Given the description of an element on the screen output the (x, y) to click on. 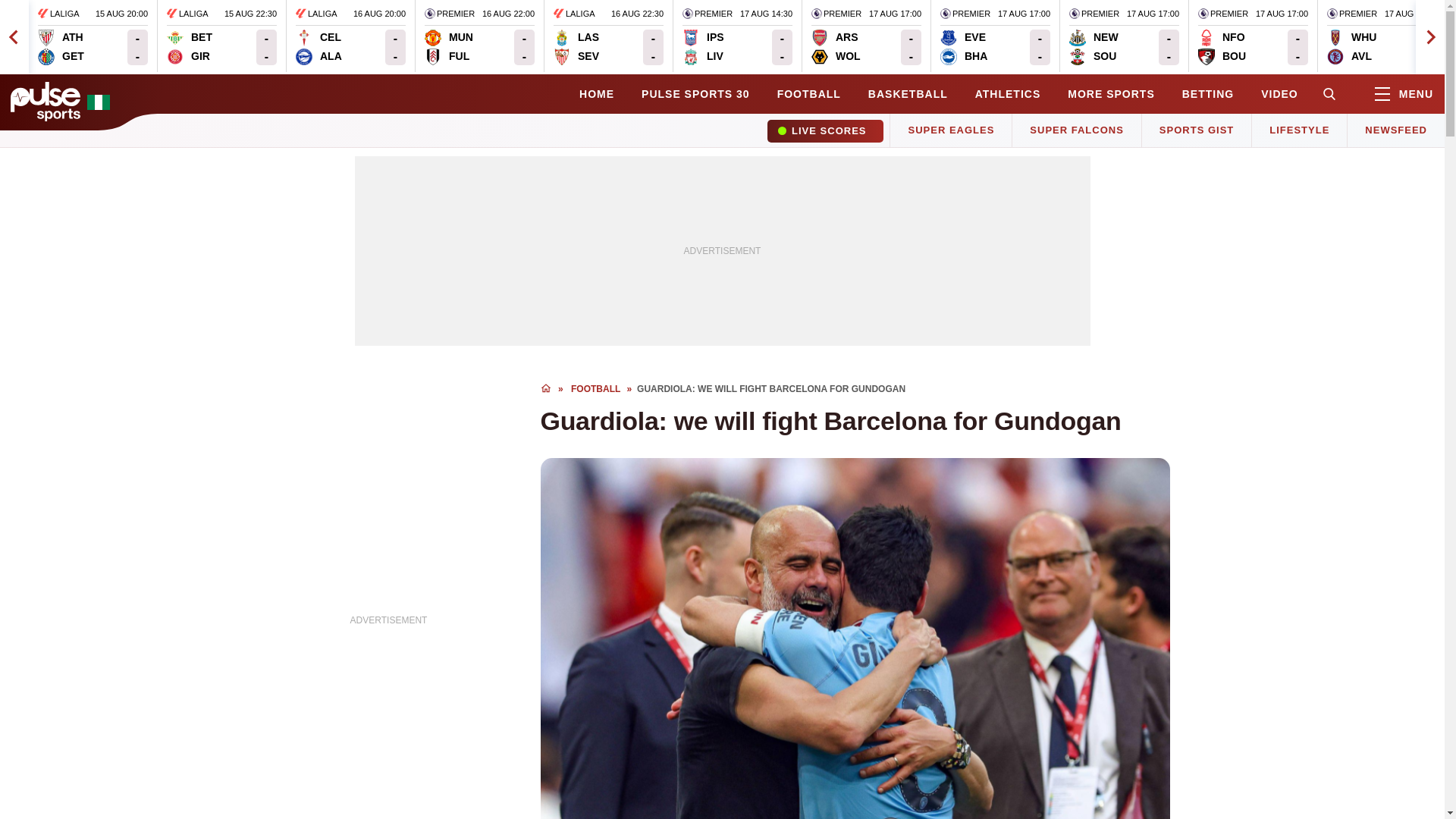
LaLiga (1123, 36)
Arsenal - Wolverhampton Wanderers (58, 13)
Premier League (835, 47)
Premier League (707, 13)
Athletic Bilbao - Getafe (835, 13)
Premier League (92, 36)
Nottingham Forest - AFC Bournemouth (60, 47)
Premier League (349, 36)
